Given the description of an element on the screen output the (x, y) to click on. 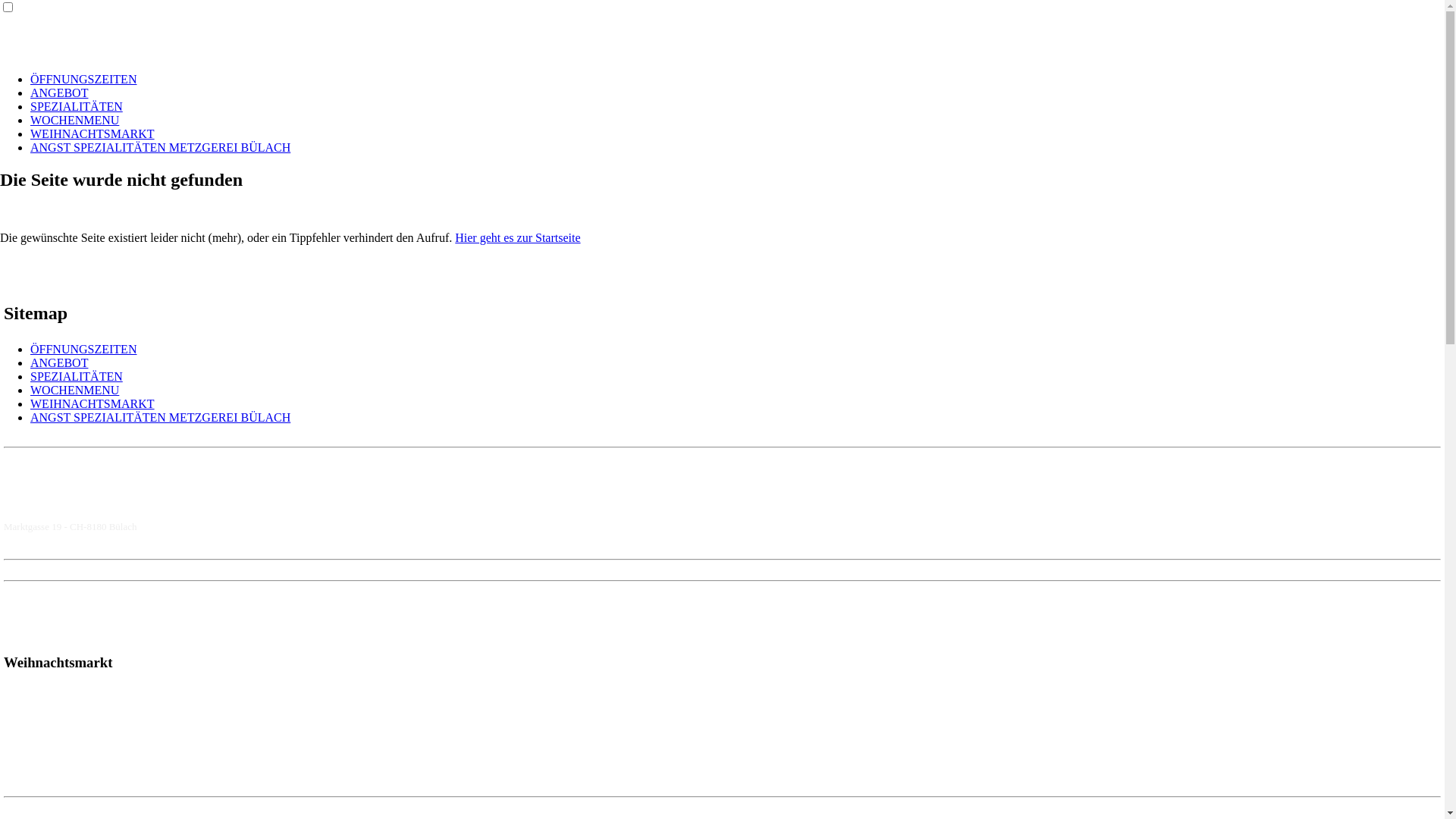
WEIHNACHTSMARKT Element type: text (92, 133)
ANGEBOT Element type: text (58, 92)
WOCHENMENU Element type: text (74, 389)
WEIHNACHTSMARKT Element type: text (92, 403)
Hier geht es zur Startseite Element type: text (517, 237)
WOCHENMENU Element type: text (74, 119)
ANGEBOT Element type: text (58, 362)
